Given the description of an element on the screen output the (x, y) to click on. 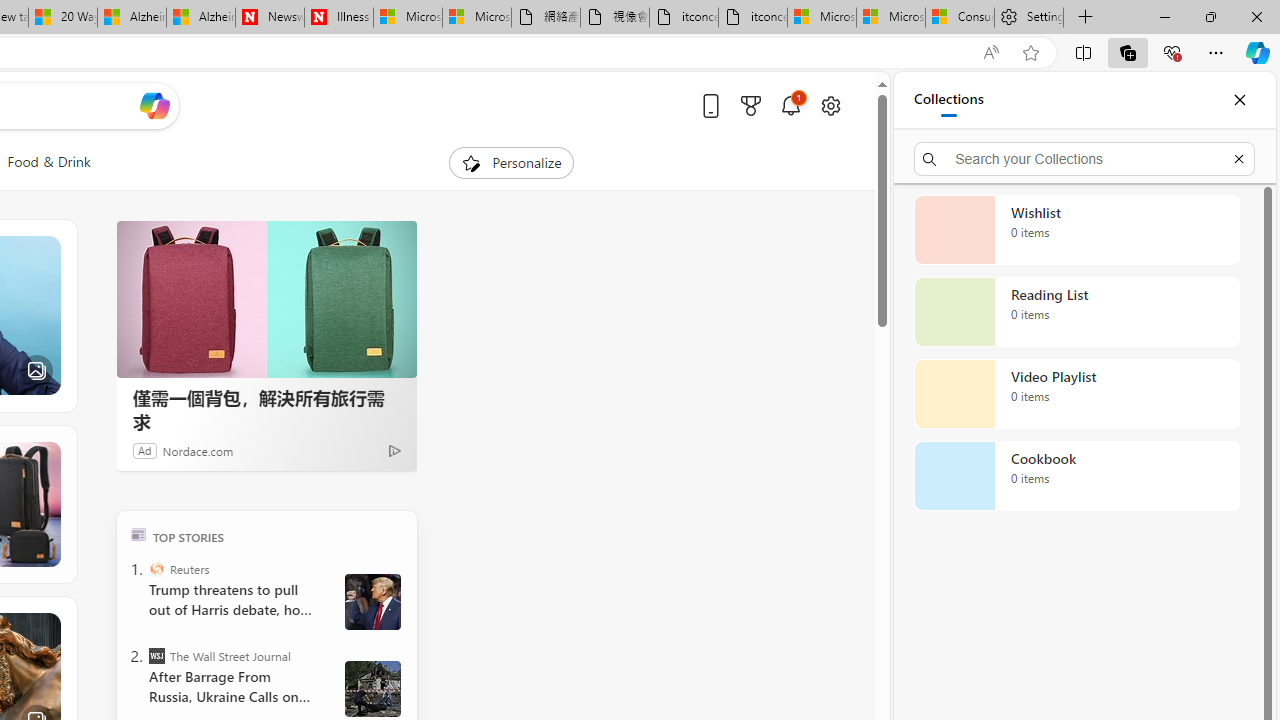
Newsweek - News, Analysis, Politics, Business, Technology (269, 17)
Microsoft account | Privacy (890, 17)
Copilot (Ctrl+Shift+.) (1258, 52)
Exit search (1238, 158)
Reuters (156, 568)
Add this page to favorites (Ctrl+D) (1030, 53)
Close (1239, 99)
Wishlist collection, 0 items (1076, 229)
Open Copilot (155, 105)
Microsoft rewards (749, 105)
Personalize (511, 162)
